Given the description of an element on the screen output the (x, y) to click on. 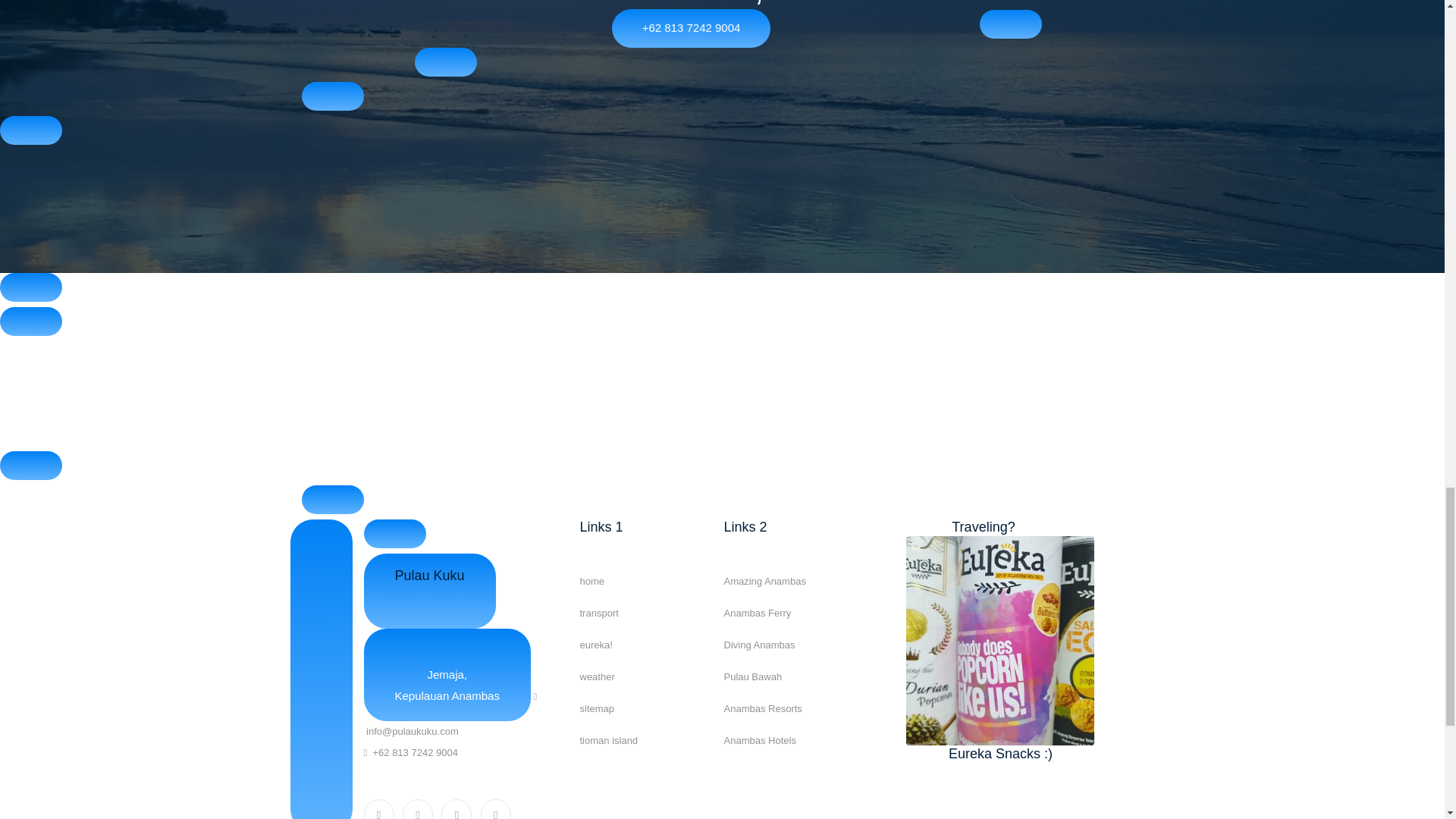
Pulau Kuku (430, 591)
On the go? Eureka Snacks (999, 639)
